Given the description of an element on the screen output the (x, y) to click on. 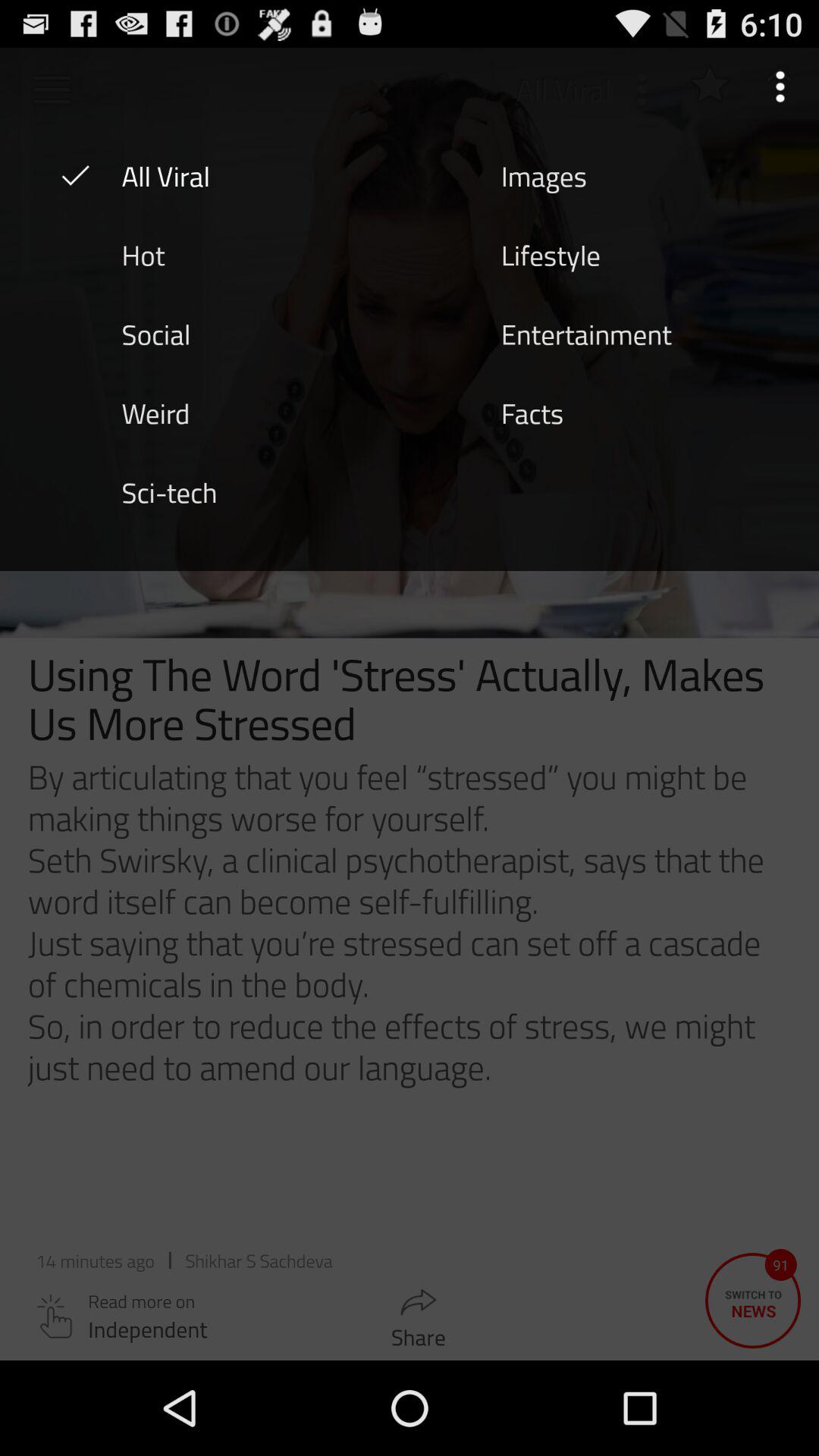
tap the item below the sci-tech icon (409, 965)
